Given the description of an element on the screen output the (x, y) to click on. 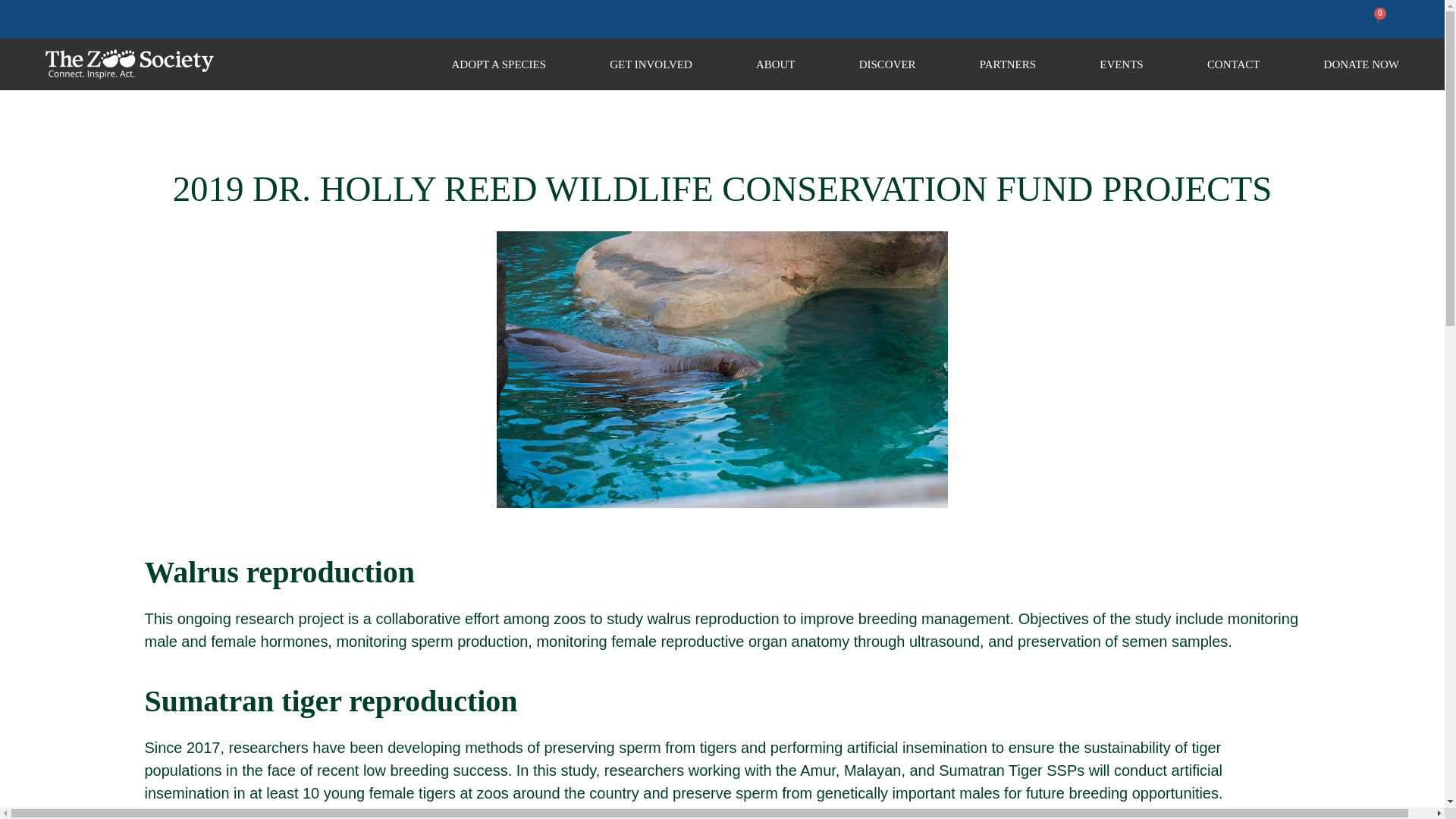
ADOPT A SPECIES (498, 63)
DISCOVER (887, 63)
EVENTS (1120, 63)
CONTACT (1233, 63)
PARTNERS (1007, 63)
GET INVOLVED (651, 63)
DONATE NOW (1361, 63)
0 (1378, 19)
ABOUT (774, 63)
